Given the description of an element on the screen output the (x, y) to click on. 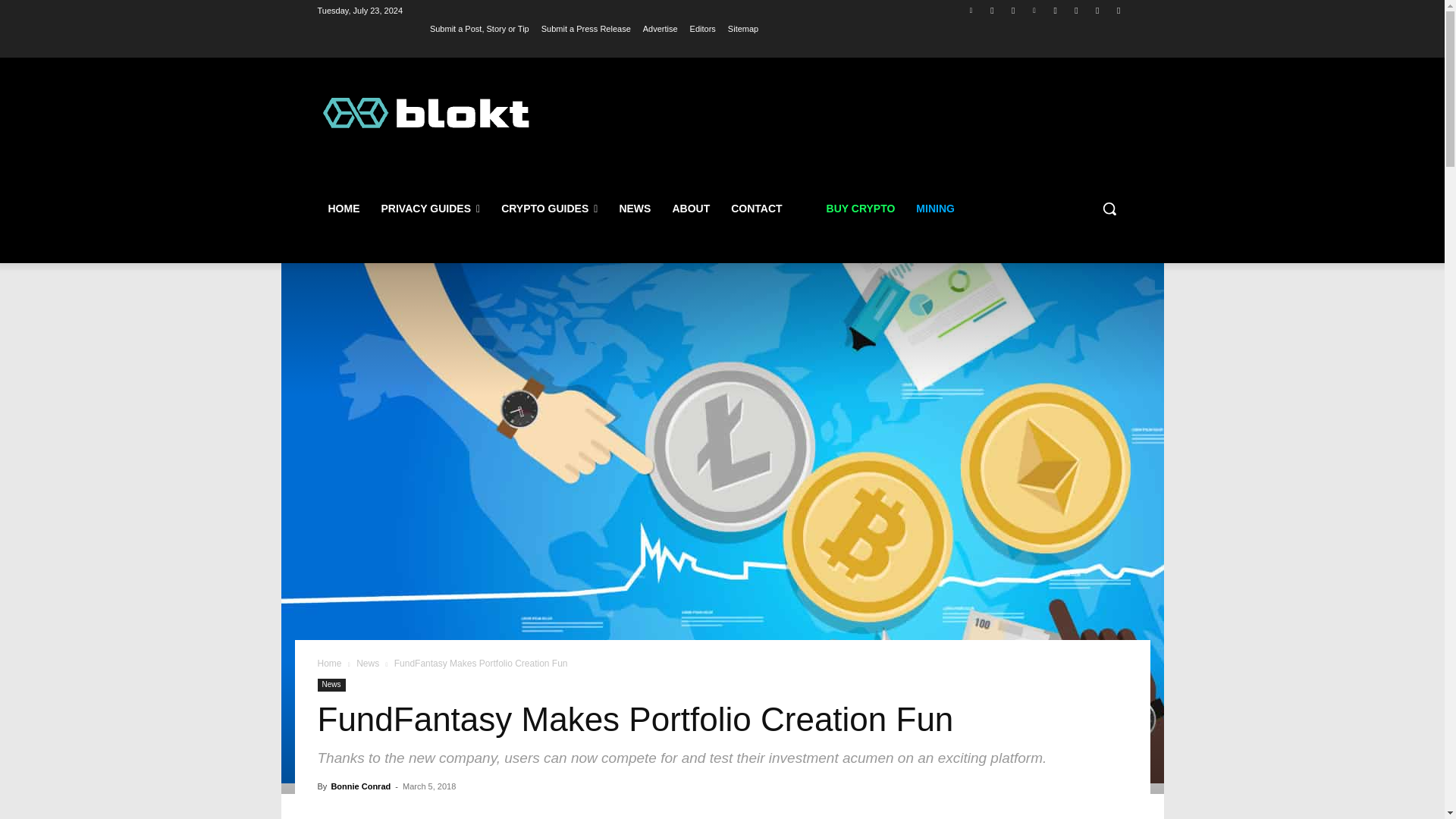
Submit a Press Release (585, 28)
Linkedin (1034, 9)
Youtube (1055, 9)
Submit a Post, Story or Tip (479, 28)
Reddit (1097, 9)
Editors (703, 28)
Advertise (660, 28)
Facebook (992, 9)
Telegram (1013, 9)
Instagram (1075, 9)
Sitemap (743, 28)
Twitter (970, 9)
